Given the description of an element on the screen output the (x, y) to click on. 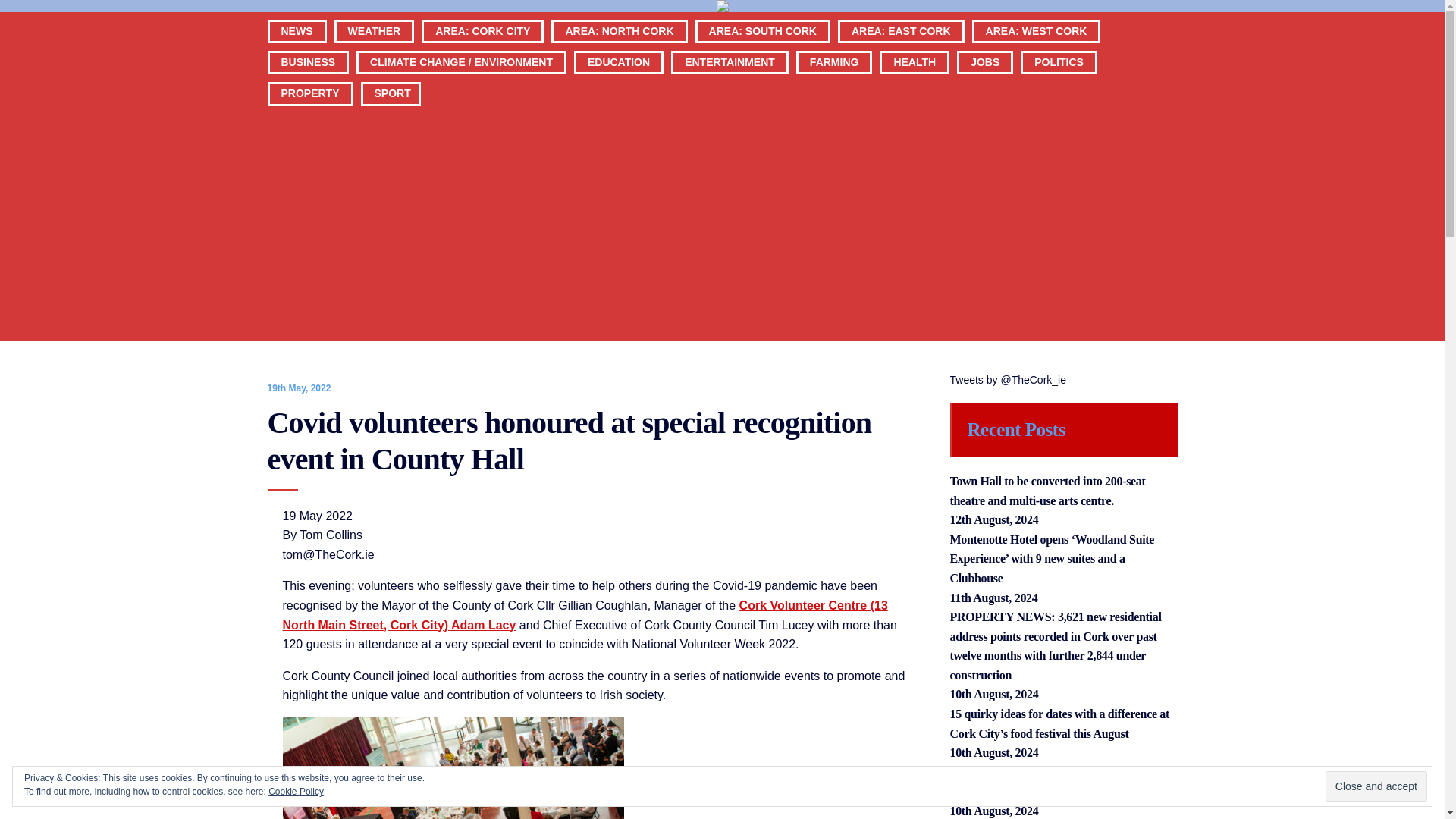
Close and accept (1375, 786)
AREA: WEST CORK (1036, 56)
AREA: NORTH CORK (618, 56)
AREA: SOUTH CORK (762, 56)
